Given the description of an element on the screen output the (x, y) to click on. 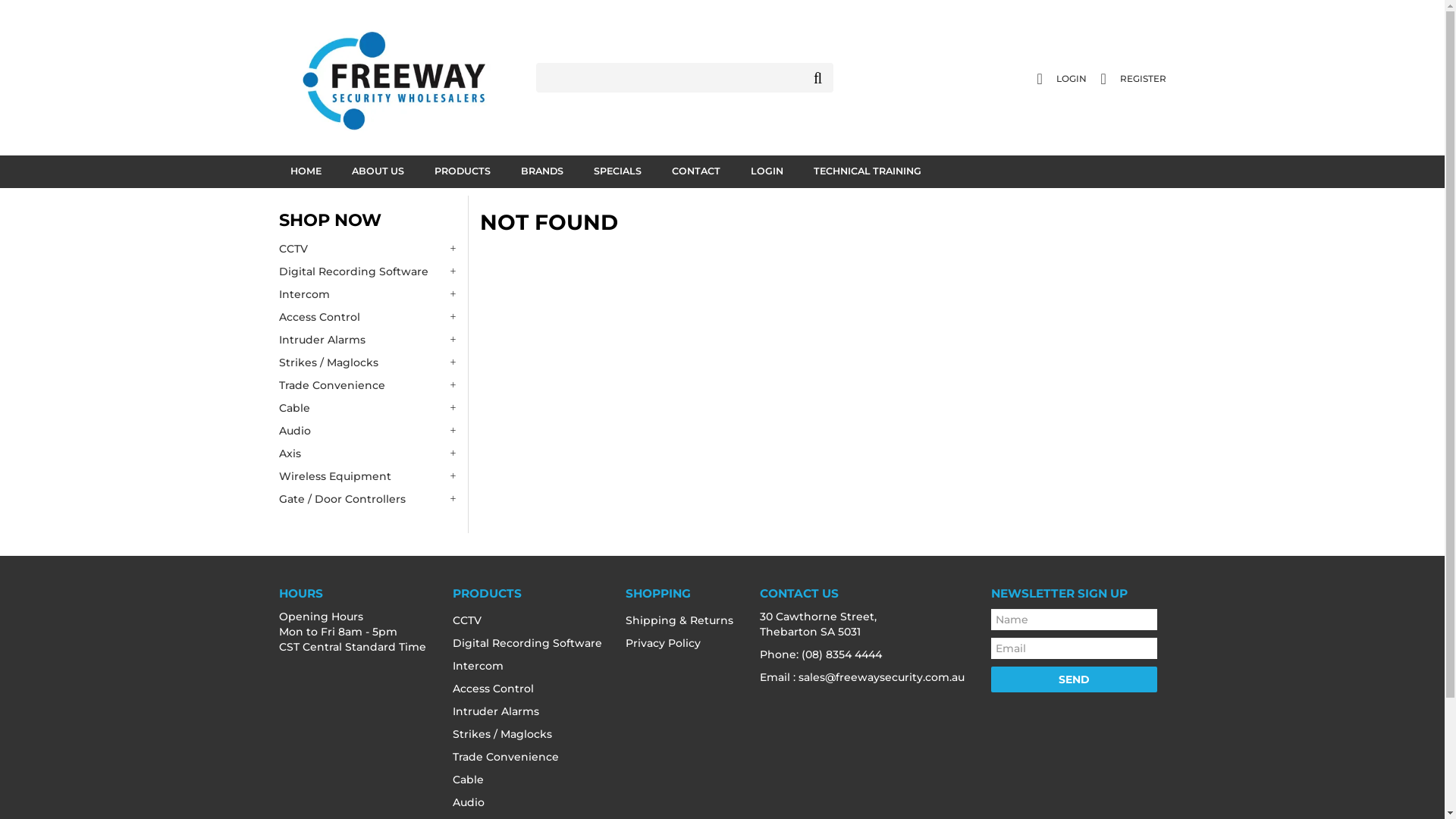
TECHNICAL TRAINING Element type: text (867, 171)
Strikes / Maglocks Element type: text (369, 362)
CCTV Element type: text (369, 248)
LOGIN Element type: text (765, 171)
Digital Recording Software Element type: text (369, 271)
Axis Element type: text (369, 453)
HOME Element type: text (305, 171)
Cable Element type: text (531, 779)
Intercom Element type: text (369, 293)
Wireless Equipment Element type: text (369, 475)
Privacy Policy Element type: text (683, 642)
Access Control Element type: text (531, 688)
Send Element type: text (1074, 679)
SPECIALS Element type: text (617, 171)
LOGIN Element type: text (1061, 78)
ABOUT US Element type: text (376, 171)
Cable Element type: text (369, 407)
Access Control Element type: text (369, 316)
REGISTER Element type: text (1133, 78)
Digital Recording Software Element type: text (531, 642)
Strikes / Maglocks Element type: text (531, 733)
PRODUCTS Element type: text (462, 171)
Intruder Alarms Element type: text (369, 339)
Gate / Door Controllers Element type: text (369, 498)
Trade Convenience Element type: text (531, 756)
Shipping & Returns Element type: text (683, 619)
Trade Convenience Element type: text (369, 384)
CONTACT Element type: text (695, 171)
Intruder Alarms Element type: text (531, 710)
Search Element type: text (818, 77)
(08) 8354 4444 Element type: text (841, 654)
BRANDS Element type: text (541, 171)
Intercom Element type: text (531, 665)
Audio Element type: text (531, 801)
Audio Element type: text (369, 430)
CCTV Element type: text (531, 619)
